Given the description of an element on the screen output the (x, y) to click on. 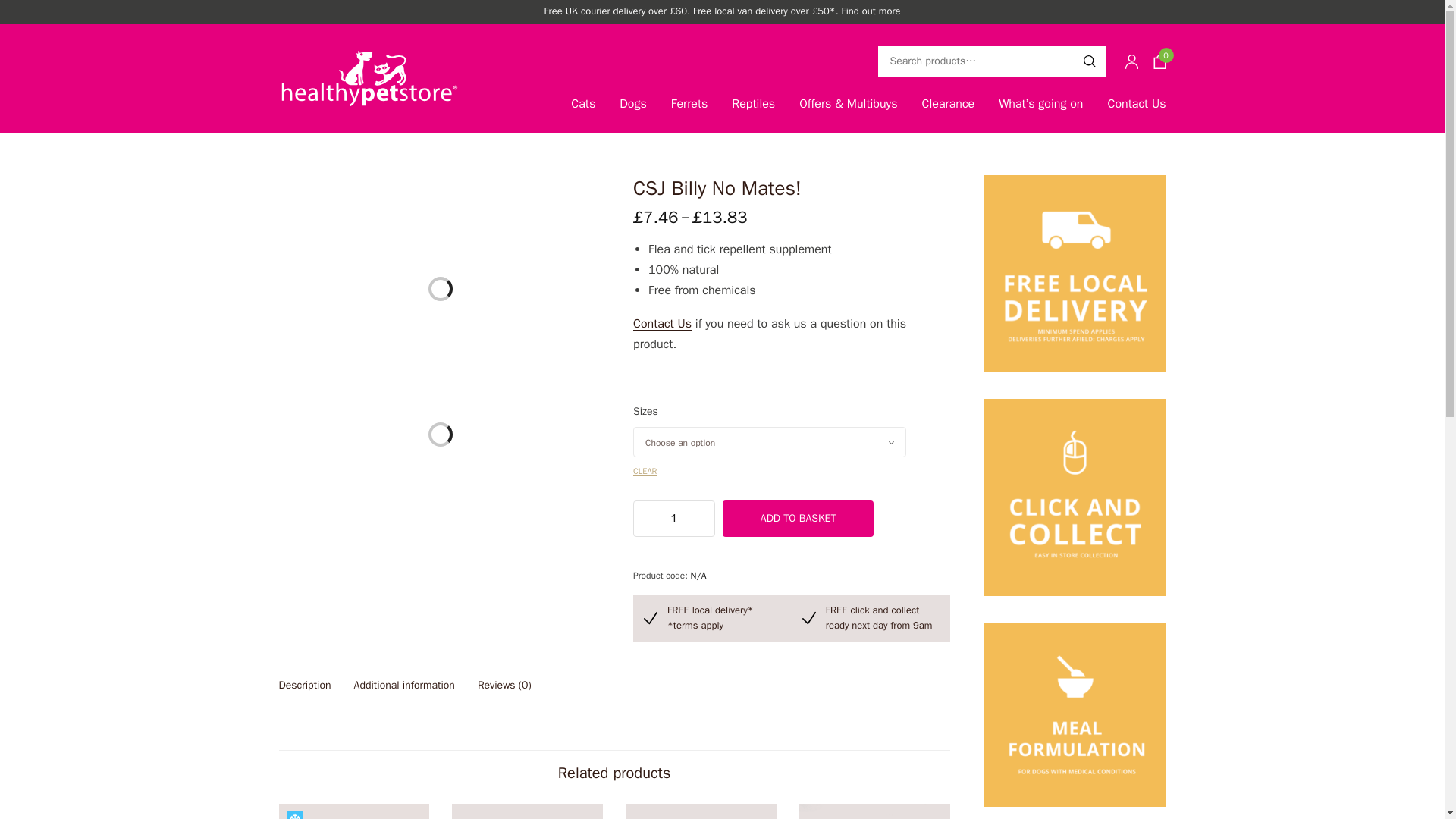
My Account (1131, 61)
Additional information (403, 692)
Dogs (633, 104)
Ferrets (689, 104)
Contact Us (1136, 104)
CSJ Billy No Mates! 250g (305, 434)
Healthcare for Cats (404, 154)
Search (1089, 61)
ADD TO BASKET (798, 518)
Cats (332, 154)
